Given the description of an element on the screen output the (x, y) to click on. 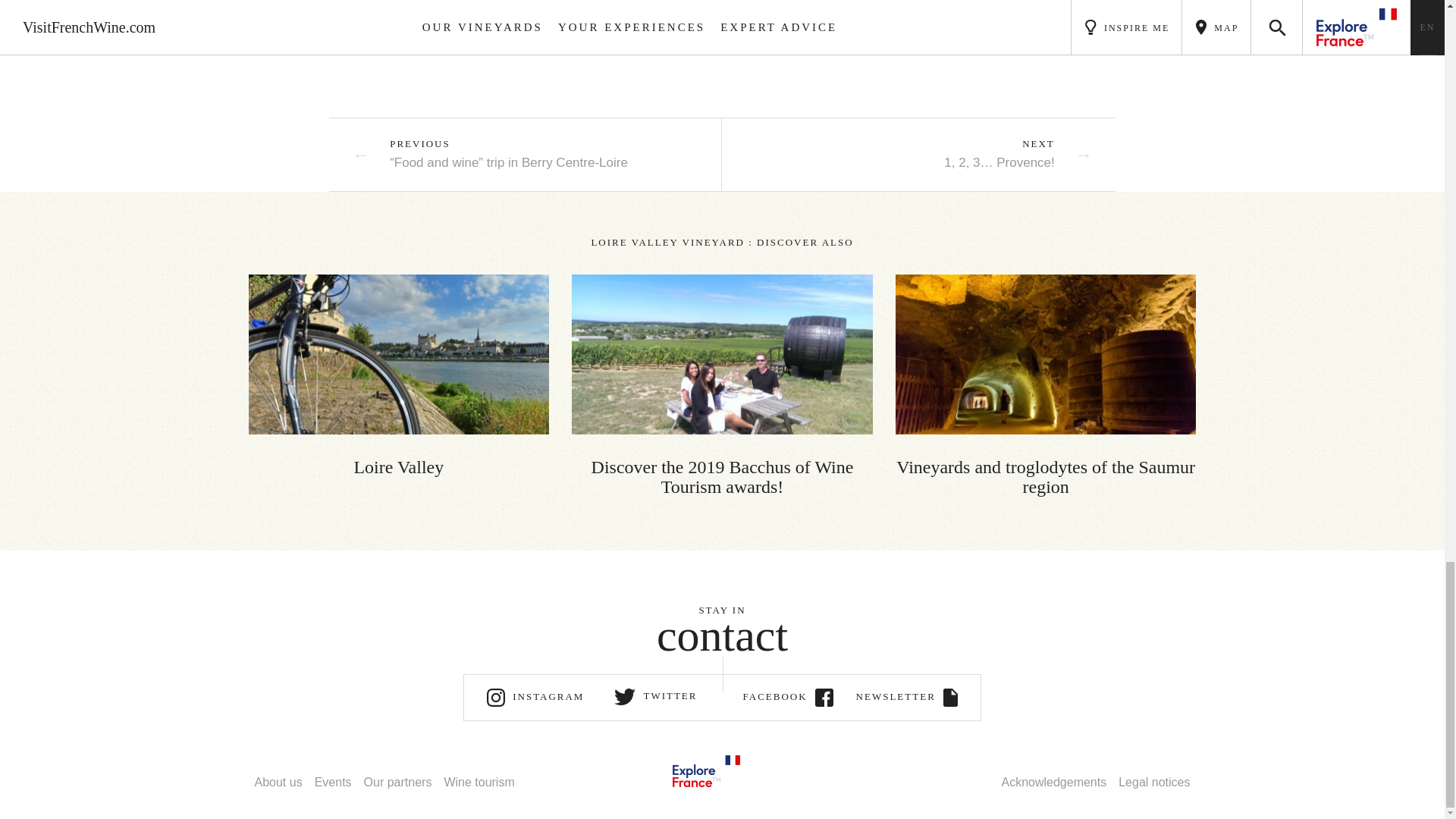
france.fr (705, 769)
INSTAGRAM (535, 697)
Nos partenaires  (398, 781)
Saumur, Loire Valley (399, 354)
Loire Valley (399, 375)
Discover the 2019 Bacchus of Wine Tourism awards! (722, 385)
Vineyards and troglodytes of the Saumur region (1045, 385)
